Given the description of an element on the screen output the (x, y) to click on. 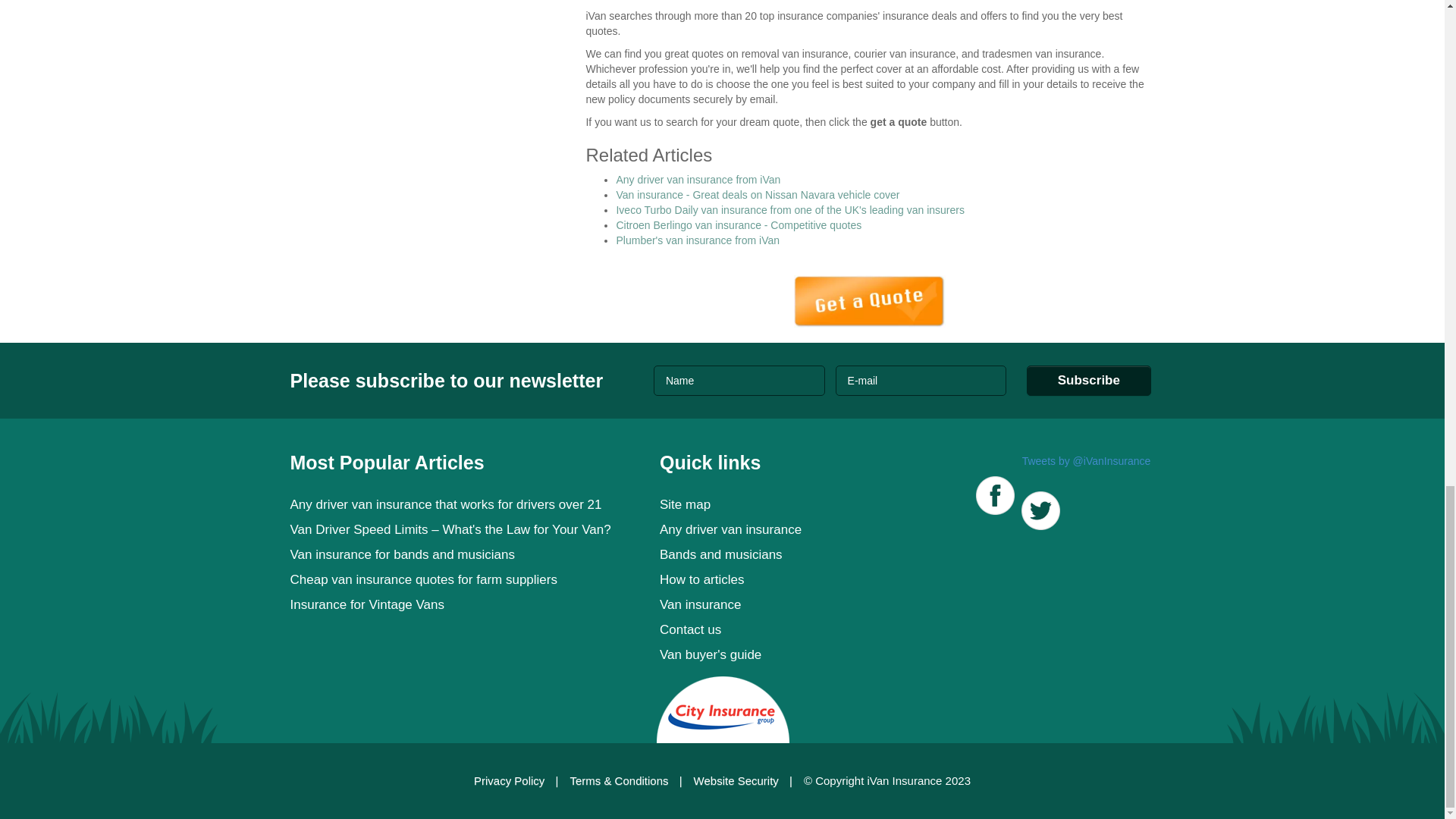
Subscribe (1088, 380)
E-mail (921, 380)
Name (739, 380)
